Given the description of an element on the screen output the (x, y) to click on. 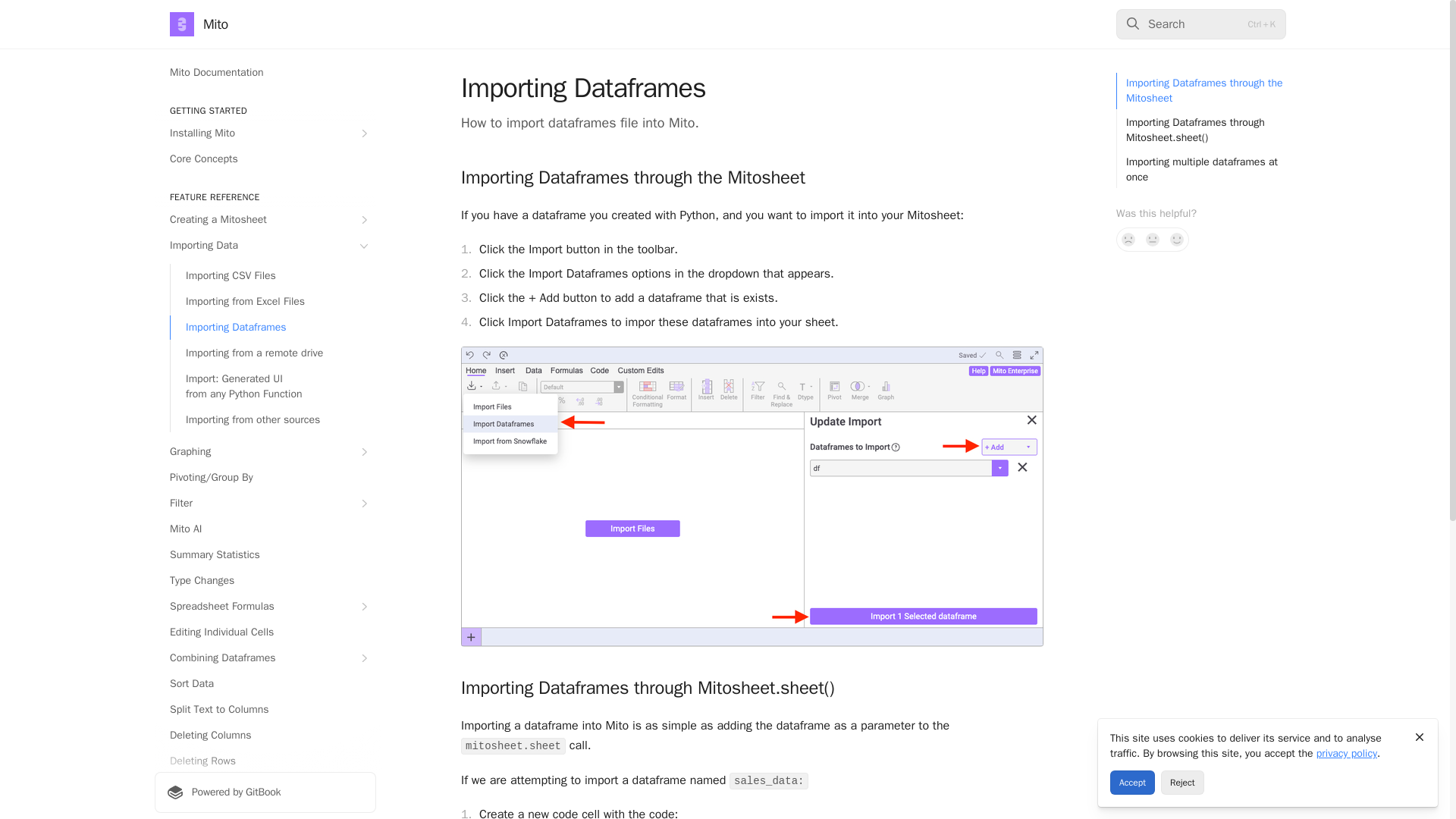
Summary Statistics (264, 554)
Yes, it was! (1176, 239)
Core Concepts (264, 159)
Type Changes (264, 580)
Mito (199, 24)
Combining Dataframes (264, 658)
Mito Documentation (264, 72)
Filter (264, 503)
Importing Data (264, 245)
Installing Mito (264, 133)
